Given the description of an element on the screen output the (x, y) to click on. 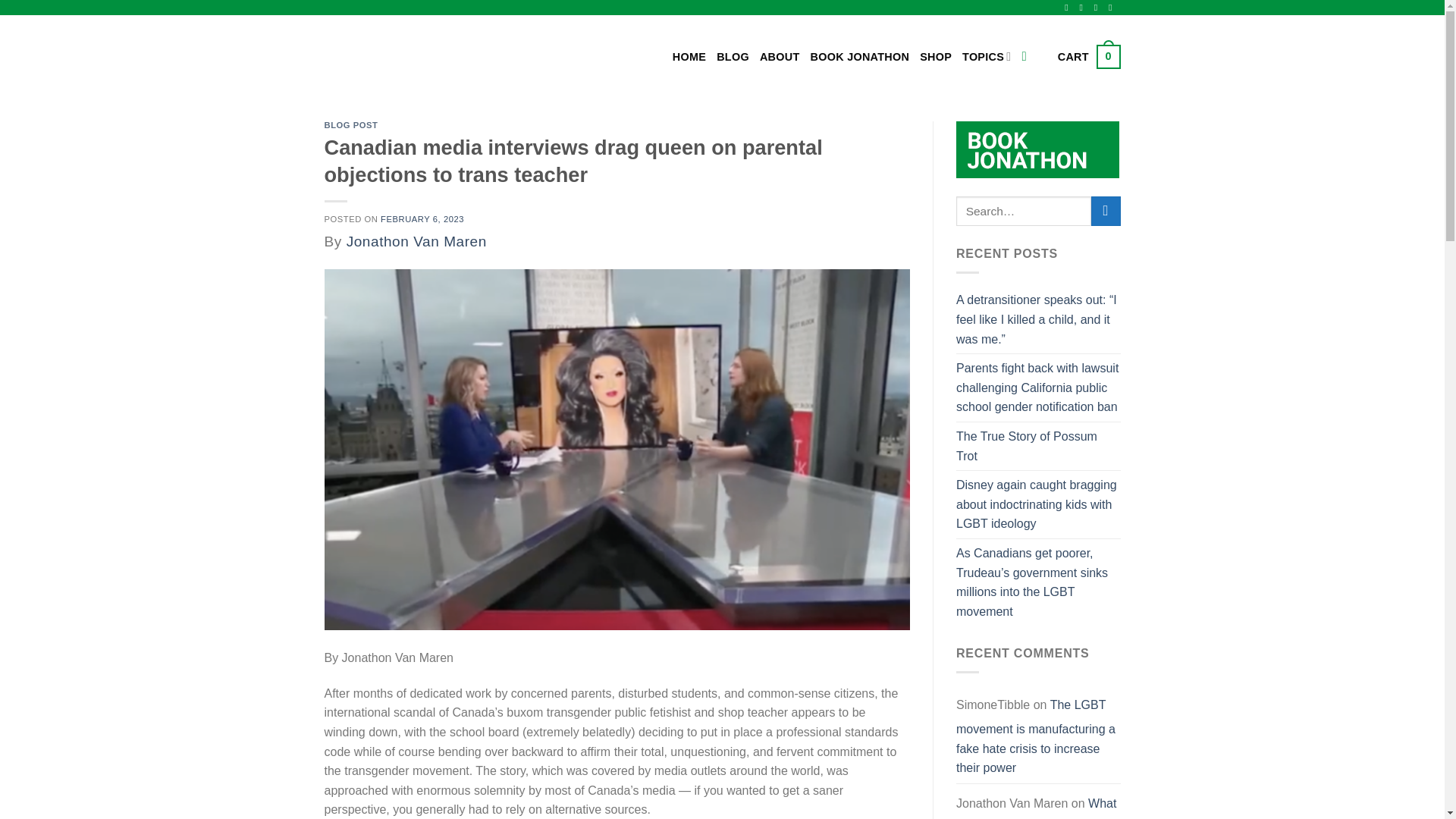
Follow on YouTube (1113, 7)
SHOP (936, 56)
Follow on Facebook (1069, 7)
BLOG (732, 56)
BLOG POST (351, 124)
HOME (689, 56)
TOPICS (986, 56)
FEBRUARY 6, 2023 (422, 218)
Follow on Instagram (1084, 7)
Cart (1089, 56)
Follow on Twitter (1098, 7)
ABOUT (1089, 56)
